Given the description of an element on the screen output the (x, y) to click on. 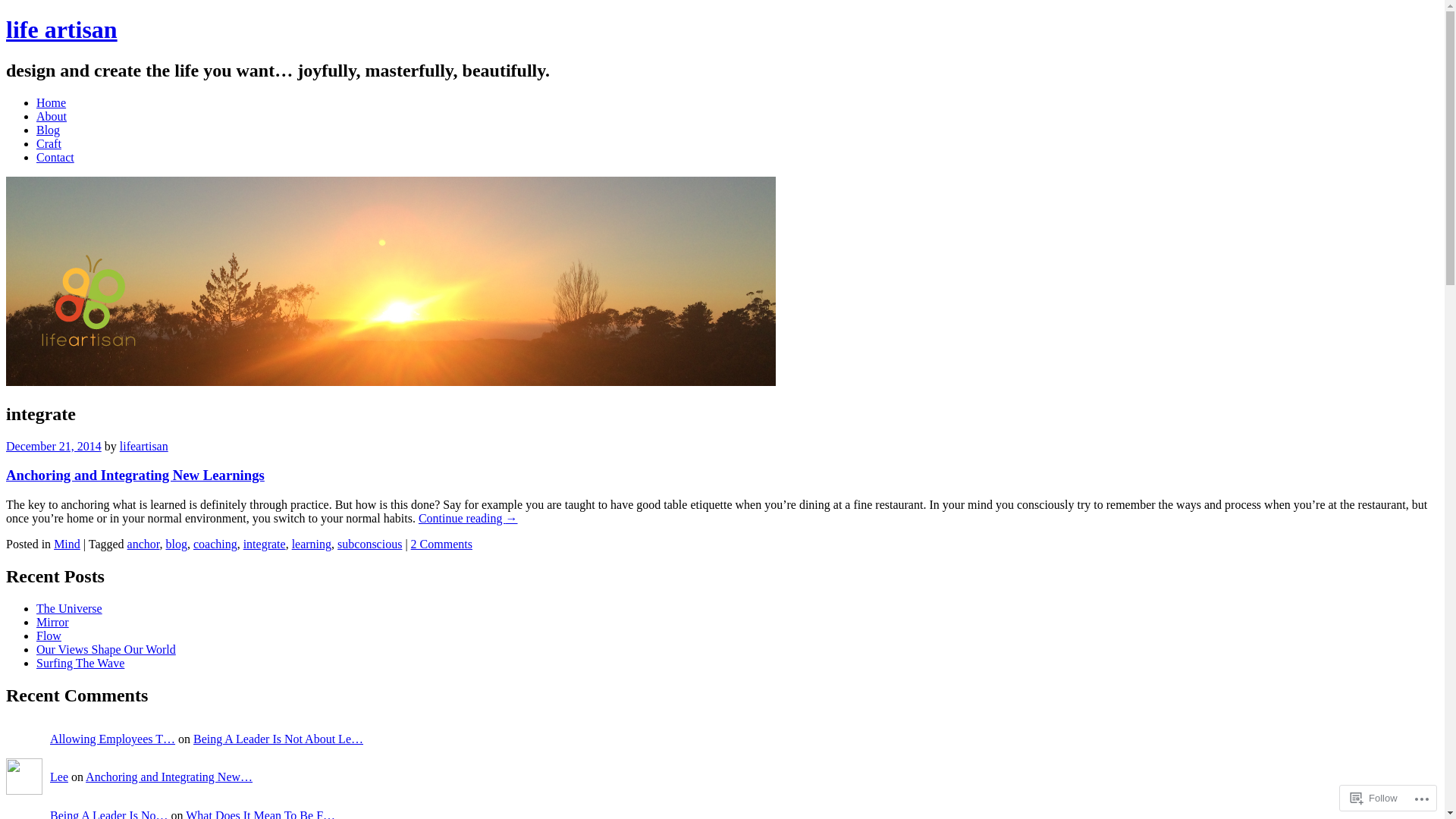
Skip to content Element type: text (22, 115)
lifeartisan Element type: text (143, 445)
Mirror Element type: text (52, 621)
Flow Element type: text (48, 635)
Contact Element type: text (55, 156)
Craft Element type: text (48, 143)
December 21, 2014 Element type: text (53, 445)
Our Views Shape Our World Element type: text (105, 649)
learning Element type: text (311, 543)
The Universe Element type: text (69, 608)
Mind Element type: text (66, 543)
Anchoring and Integrating New Learnings Element type: text (135, 475)
Lee Element type: text (59, 776)
Lee Element type: hover (24, 778)
life artisan Element type: hover (390, 381)
Follow Element type: text (1373, 797)
2 Comments Element type: text (441, 543)
integrate Element type: text (264, 543)
coaching Element type: text (215, 543)
Blog Element type: text (47, 129)
life artisan Element type: text (61, 29)
Surfing The Wave Element type: text (80, 662)
blog Element type: text (175, 543)
Home Element type: text (50, 102)
subconscious Element type: text (369, 543)
About Element type: text (51, 115)
anchor Element type: text (143, 543)
